Given the description of an element on the screen output the (x, y) to click on. 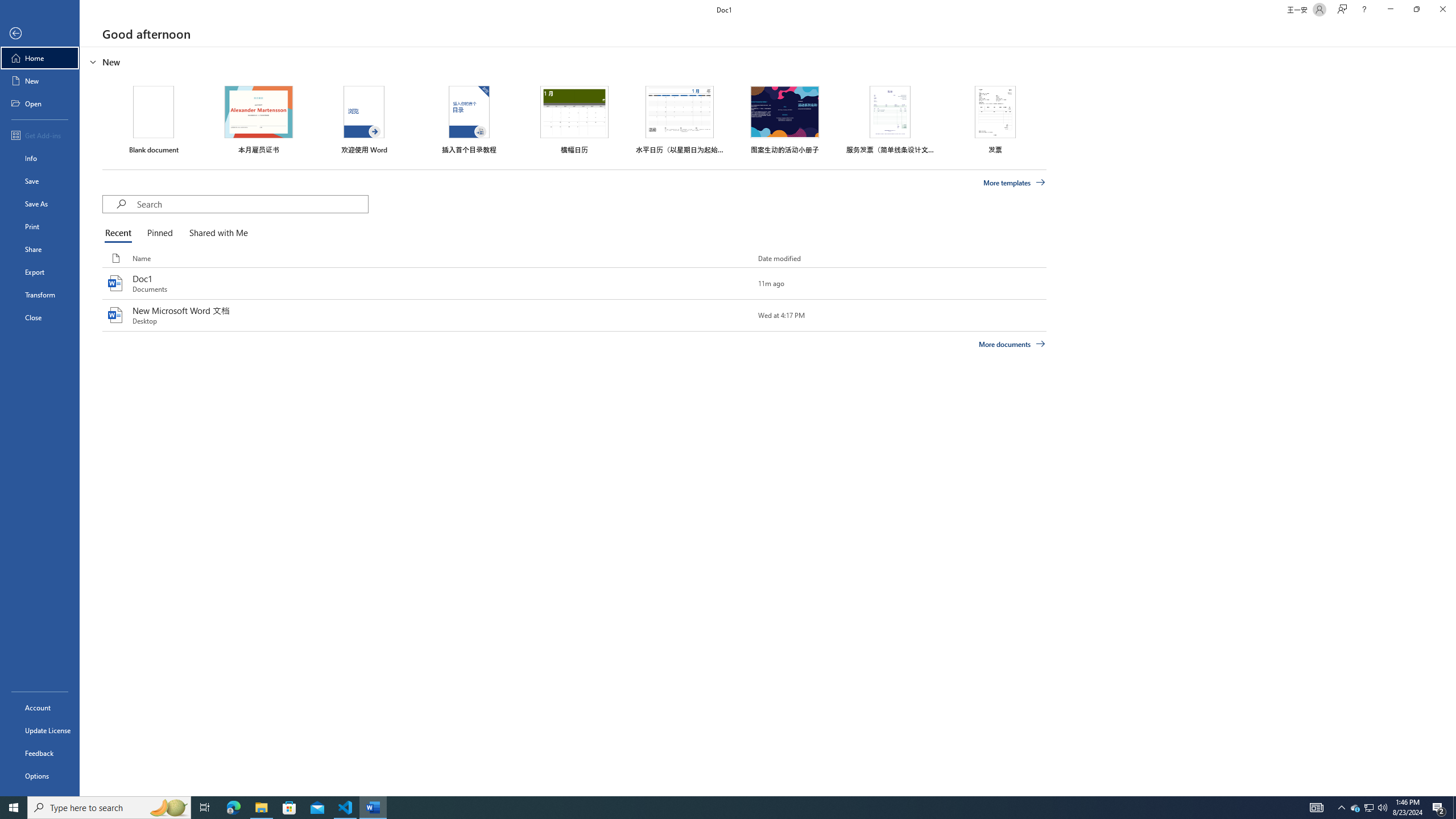
Recent (119, 233)
Feedback (40, 753)
Account (40, 707)
Export (40, 271)
Pinned (159, 233)
Class: NetUIScrollBar (1450, 421)
